Given the description of an element on the screen output the (x, y) to click on. 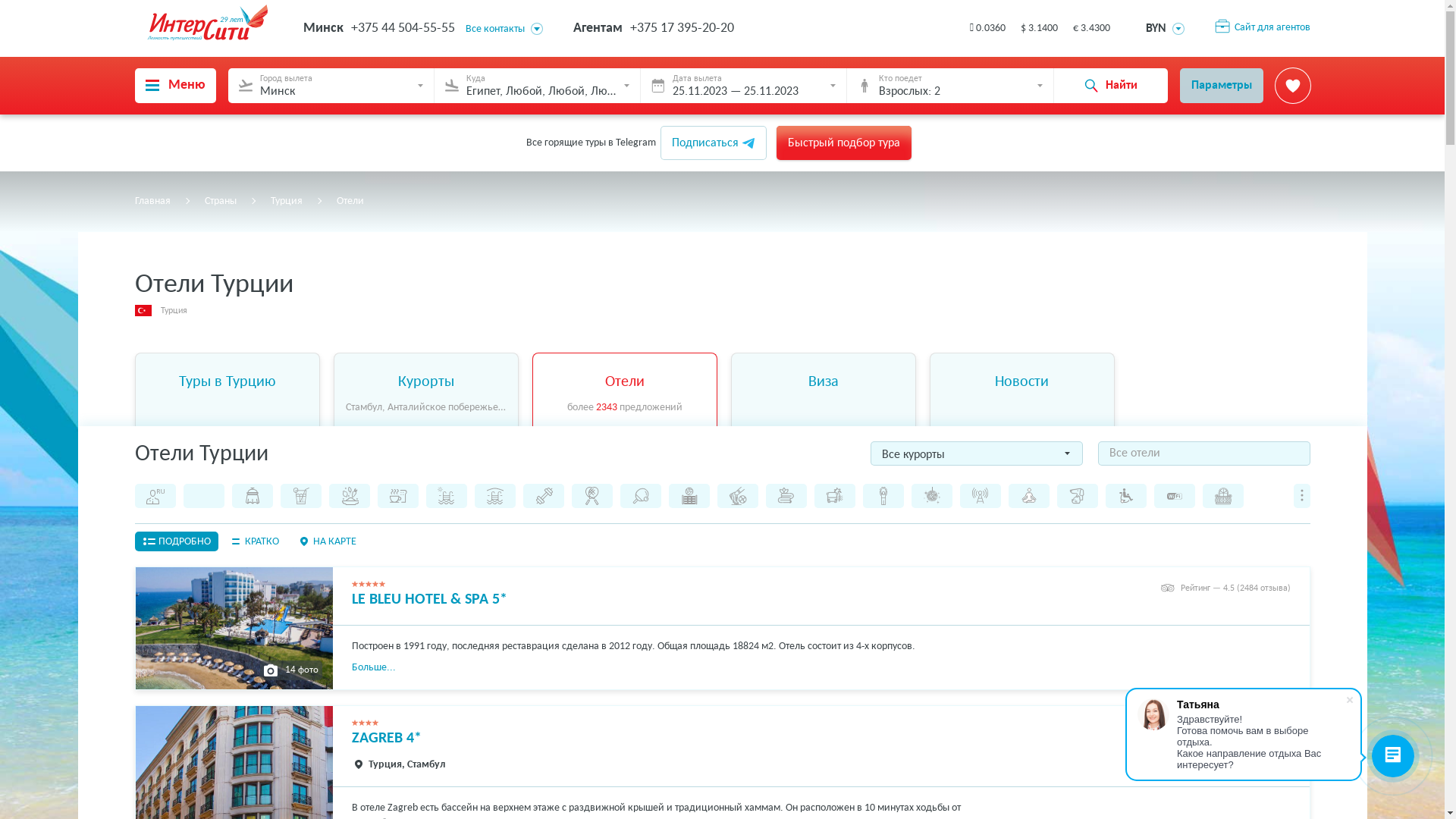
+375 17 395-20-20 Element type: text (681, 28)
ZAGREB 4* Element type: text (386, 738)
+375 44 502-55-55 Element type: text (402, 28)
LE BLEU HOTEL & SPA 5* Element type: text (429, 599)
